Given the description of an element on the screen output the (x, y) to click on. 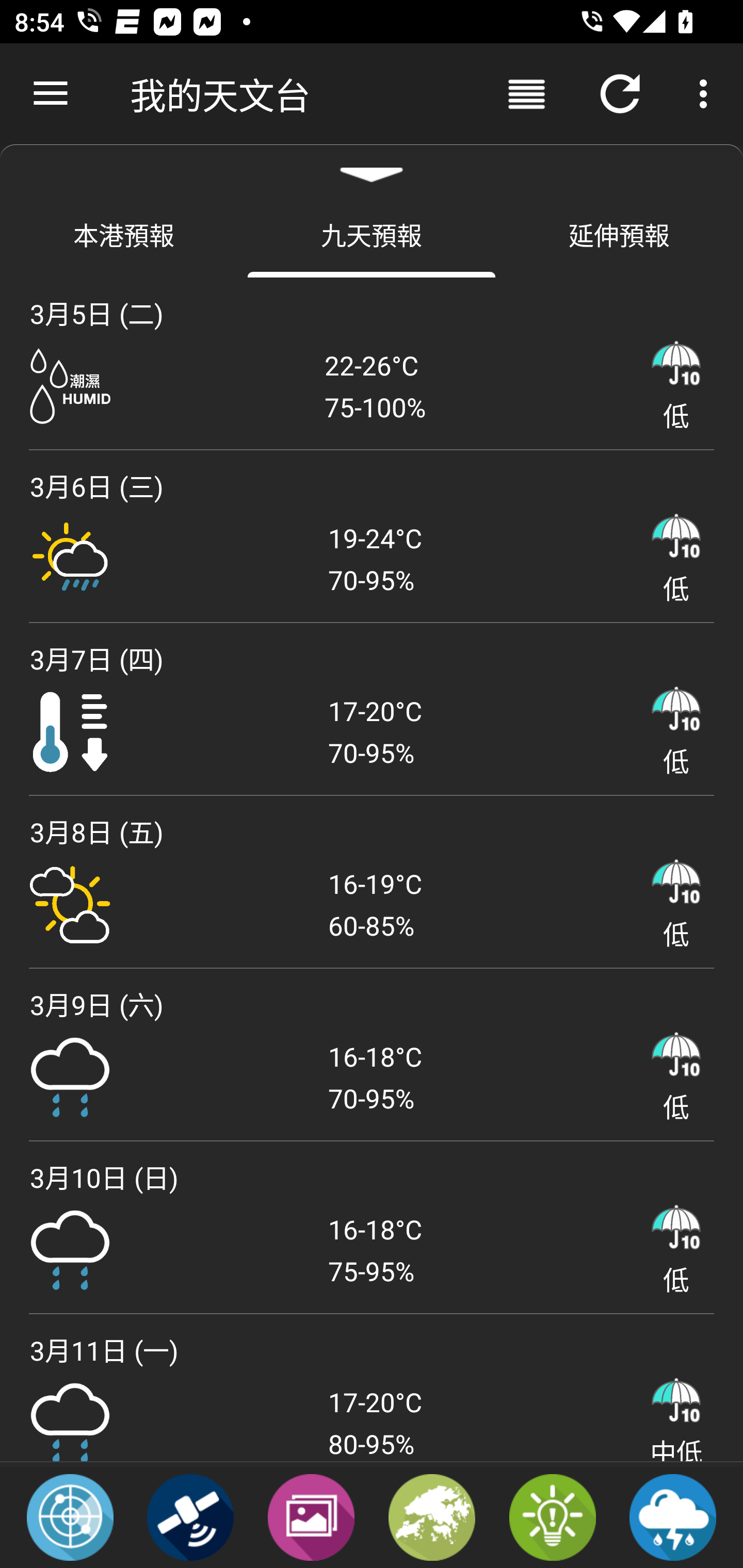
向上瀏覽 (50, 93)
直向佈局 (525, 93)
重新整理 (619, 93)
更多選項 (706, 93)
隱藏 (371, 167)
本港預報 (123, 234)
延伸預報 (619, 234)
雷達圖像 (69, 1516)
衛星圖像 (190, 1516)
天氣照片 (310, 1516)
分區天氣 (431, 1516)
天氣提示 (551, 1516)
定點降雨及閃電預報 (672, 1516)
